Given the description of an element on the screen output the (x, y) to click on. 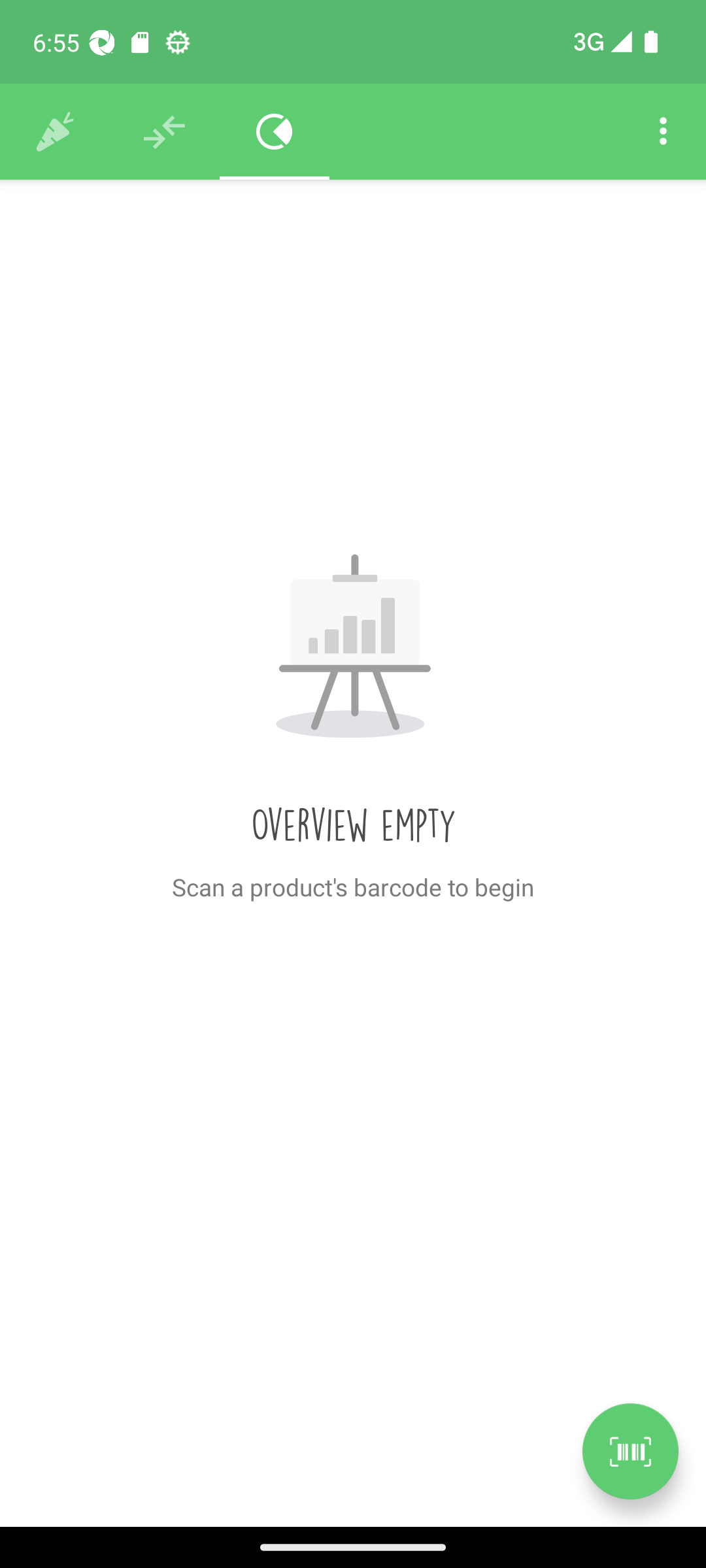
History (55, 131)
Recommendations (164, 131)
Settings (663, 131)
Scan a product (630, 1451)
